Given the description of an element on the screen output the (x, y) to click on. 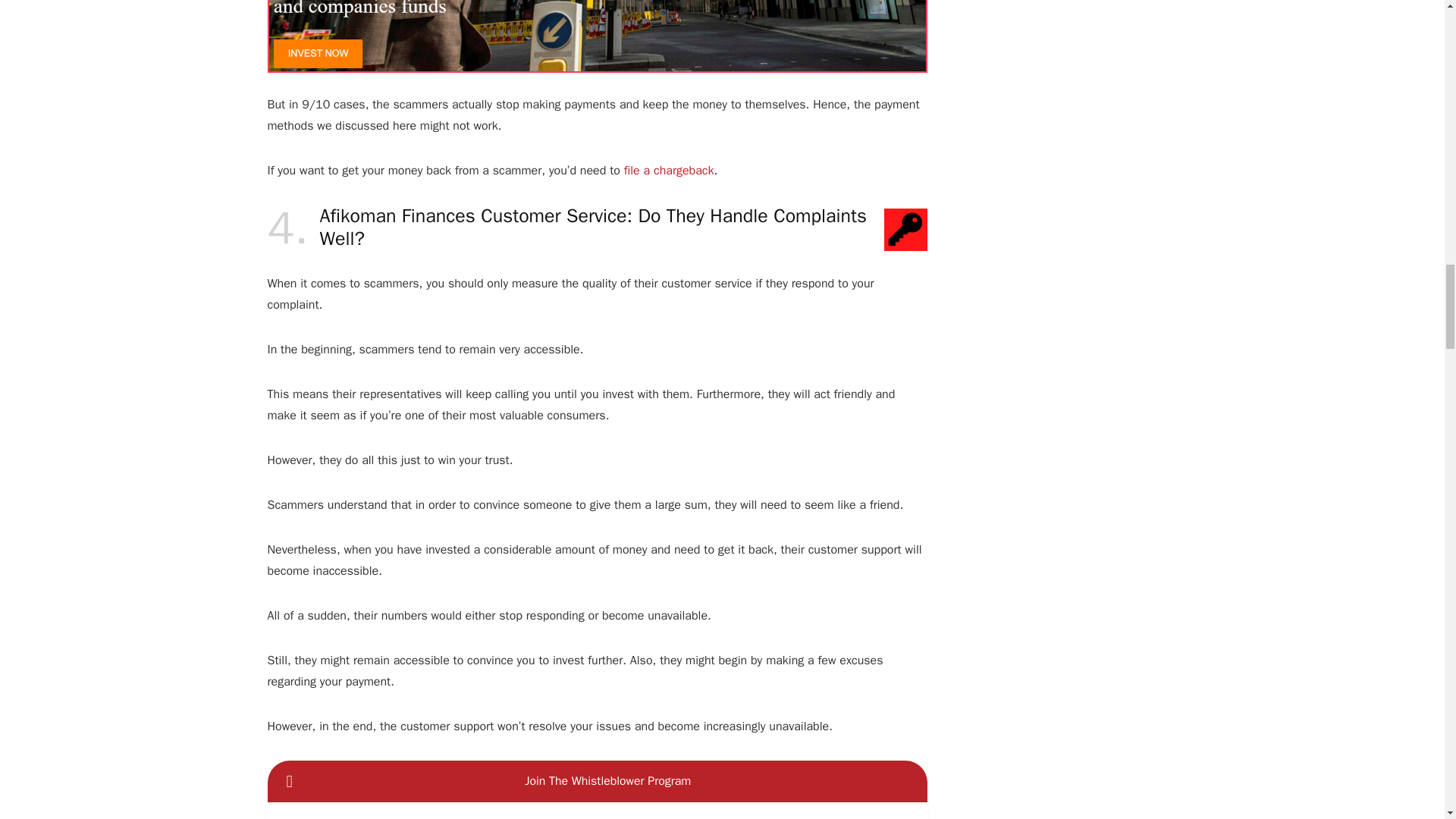
AfikomanFinance-homepage (596, 36)
MyCB (669, 170)
file a chargeback (669, 170)
